Given the description of an element on the screen output the (x, y) to click on. 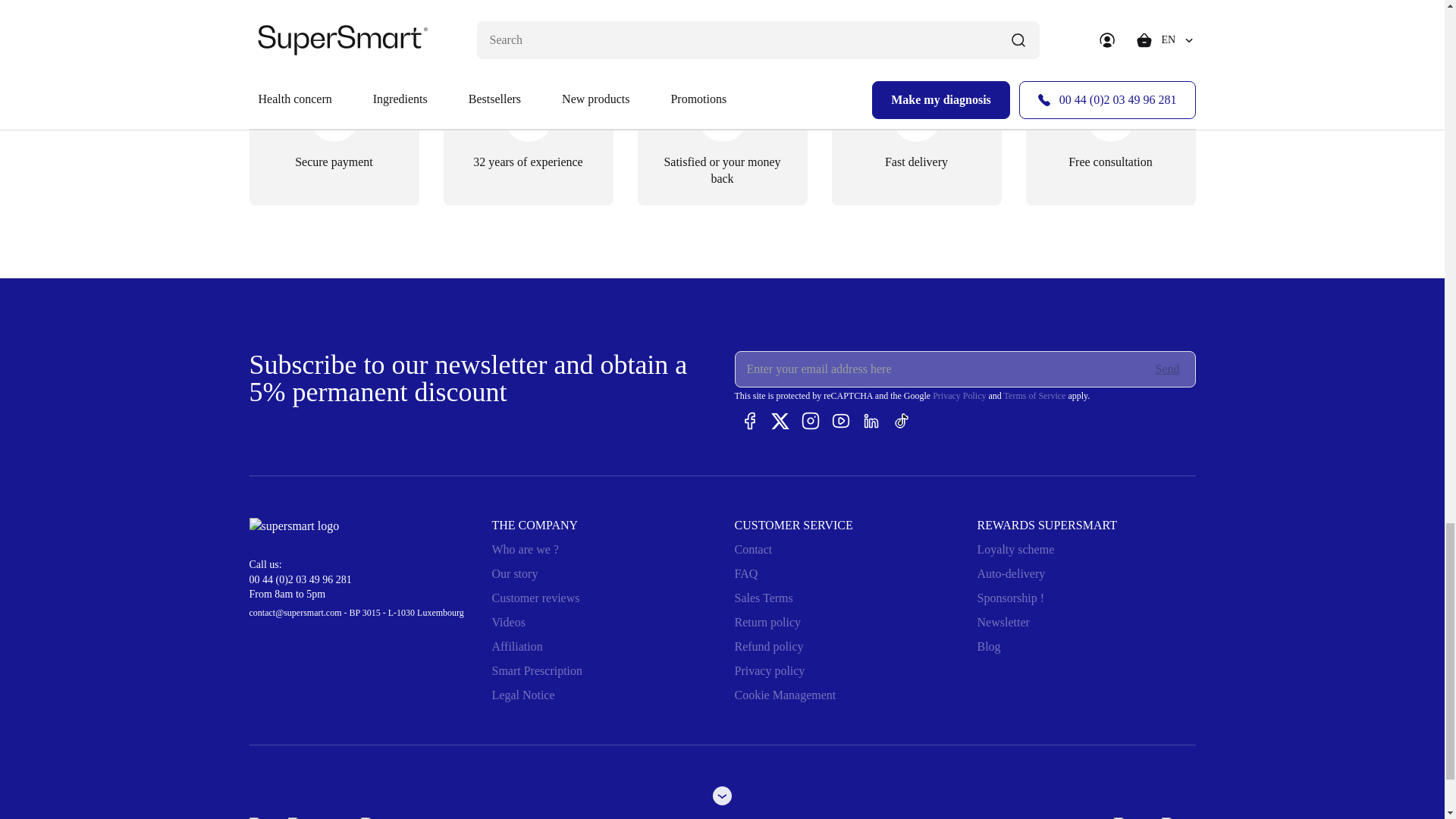
Send (1168, 369)
